Given the description of an element on the screen output the (x, y) to click on. 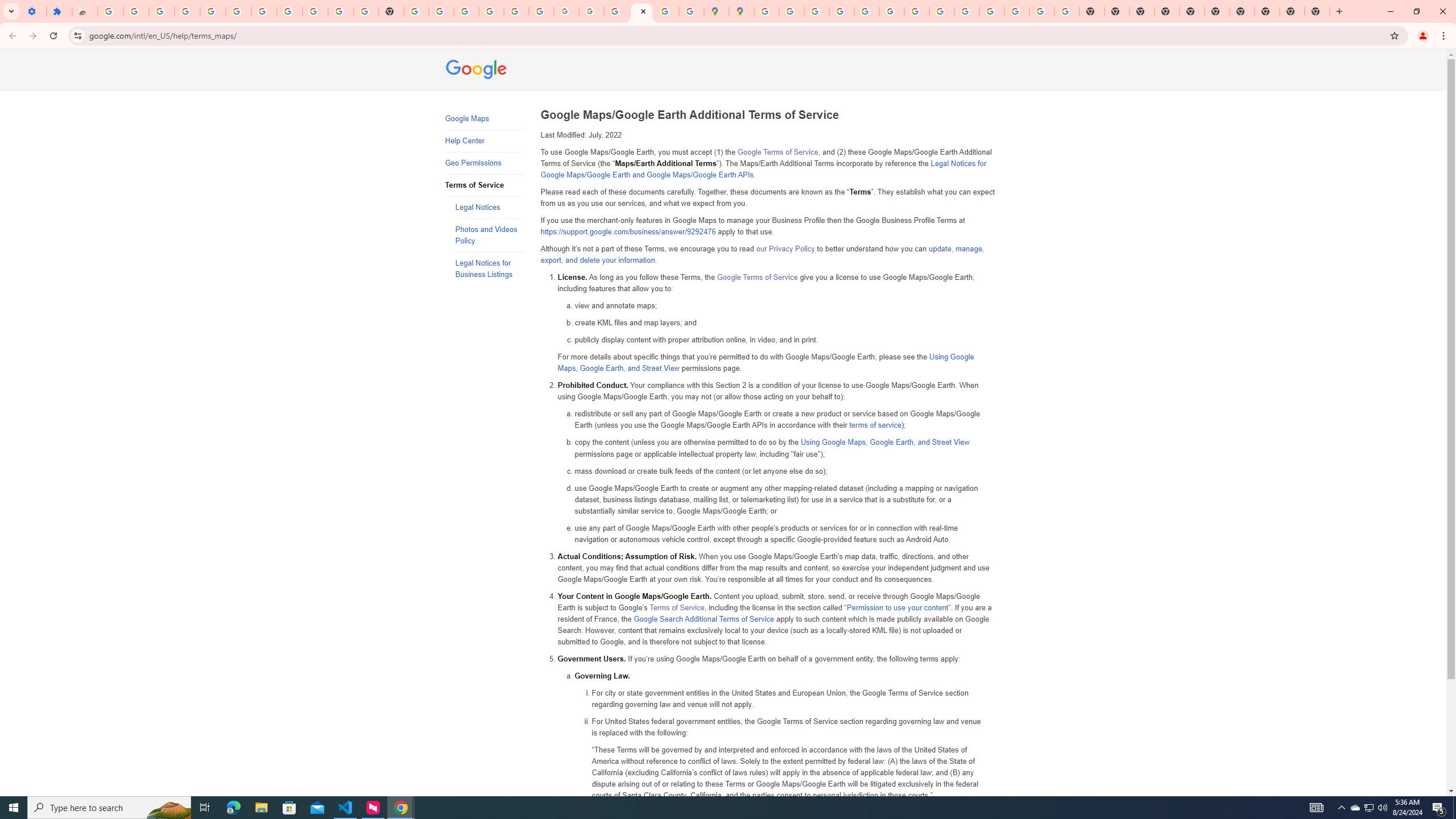
https://support.google.com/business/answer/9292476 (628, 231)
https://scholar.google.com/ (415, 11)
Restore (1416, 11)
You (1422, 35)
terms of service (874, 424)
Geo Permissions (484, 162)
